Given the description of an element on the screen output the (x, y) to click on. 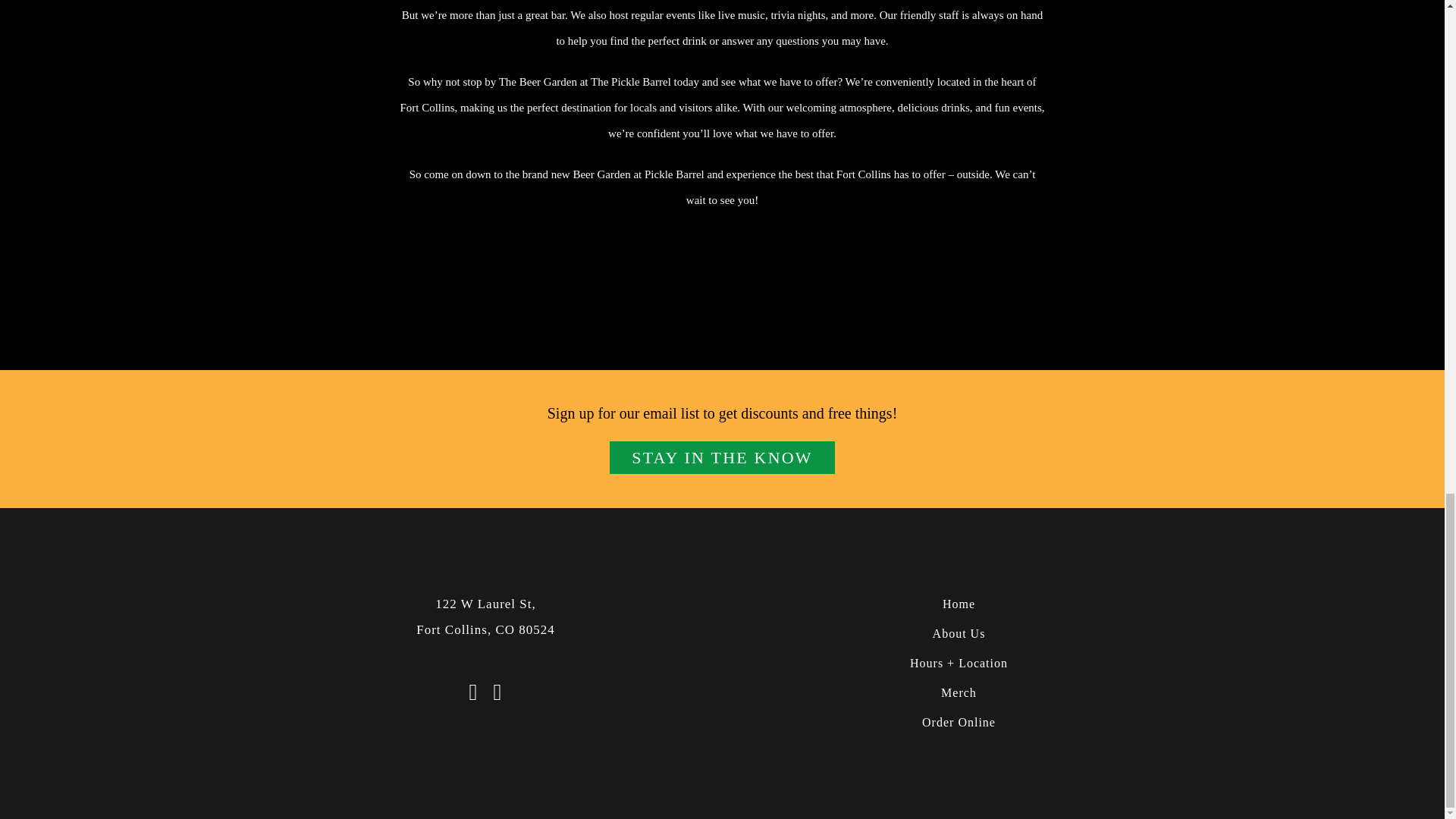
About Us (957, 633)
Home (957, 604)
Order Online (957, 722)
Merch (957, 692)
STAY IN THE KNOW (485, 617)
